Given the description of an element on the screen output the (x, y) to click on. 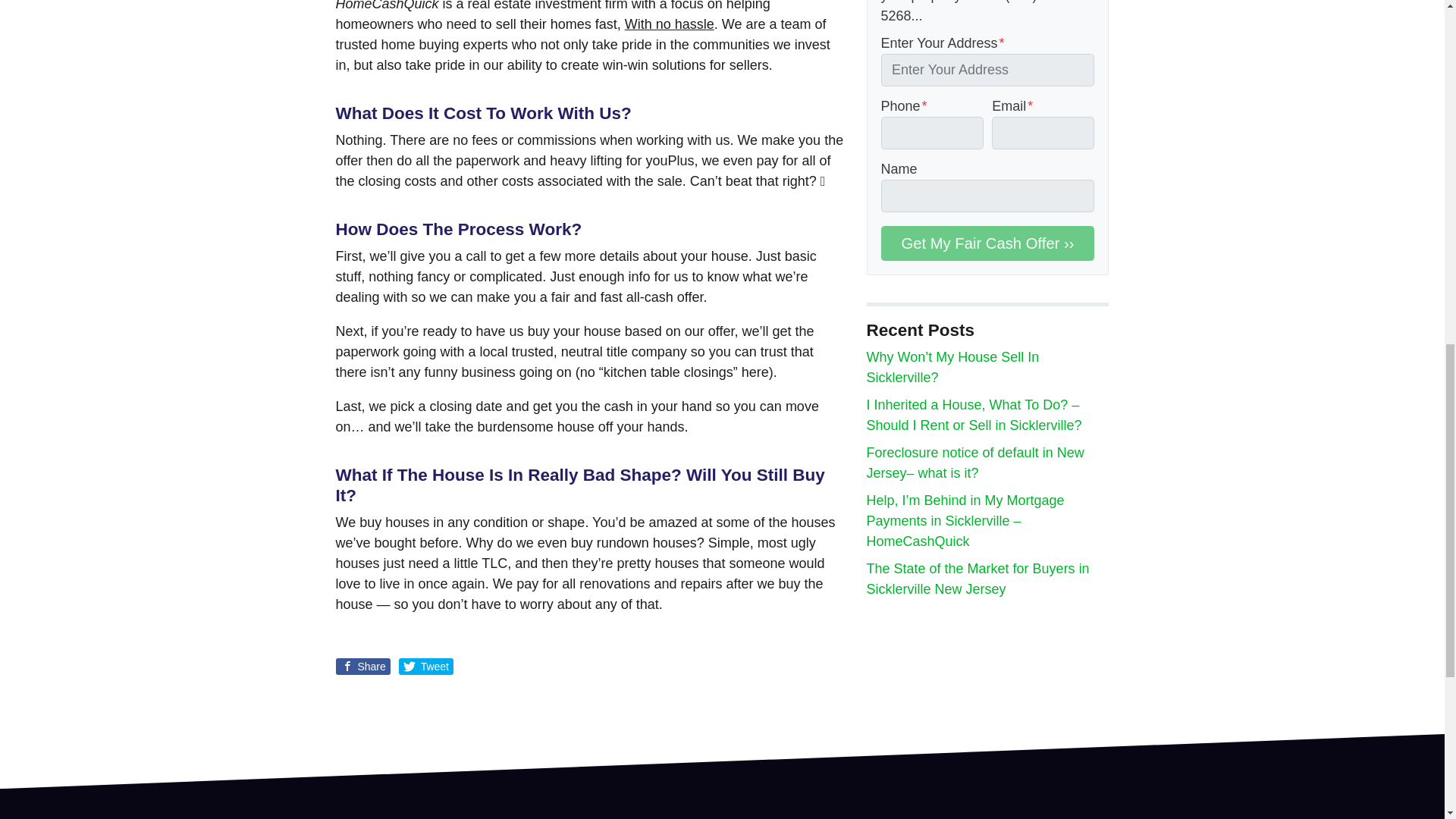
Share (362, 666)
Share on Facebook (362, 666)
Tweet (425, 666)
Share on Twitter (425, 666)
